Given the description of an element on the screen output the (x, y) to click on. 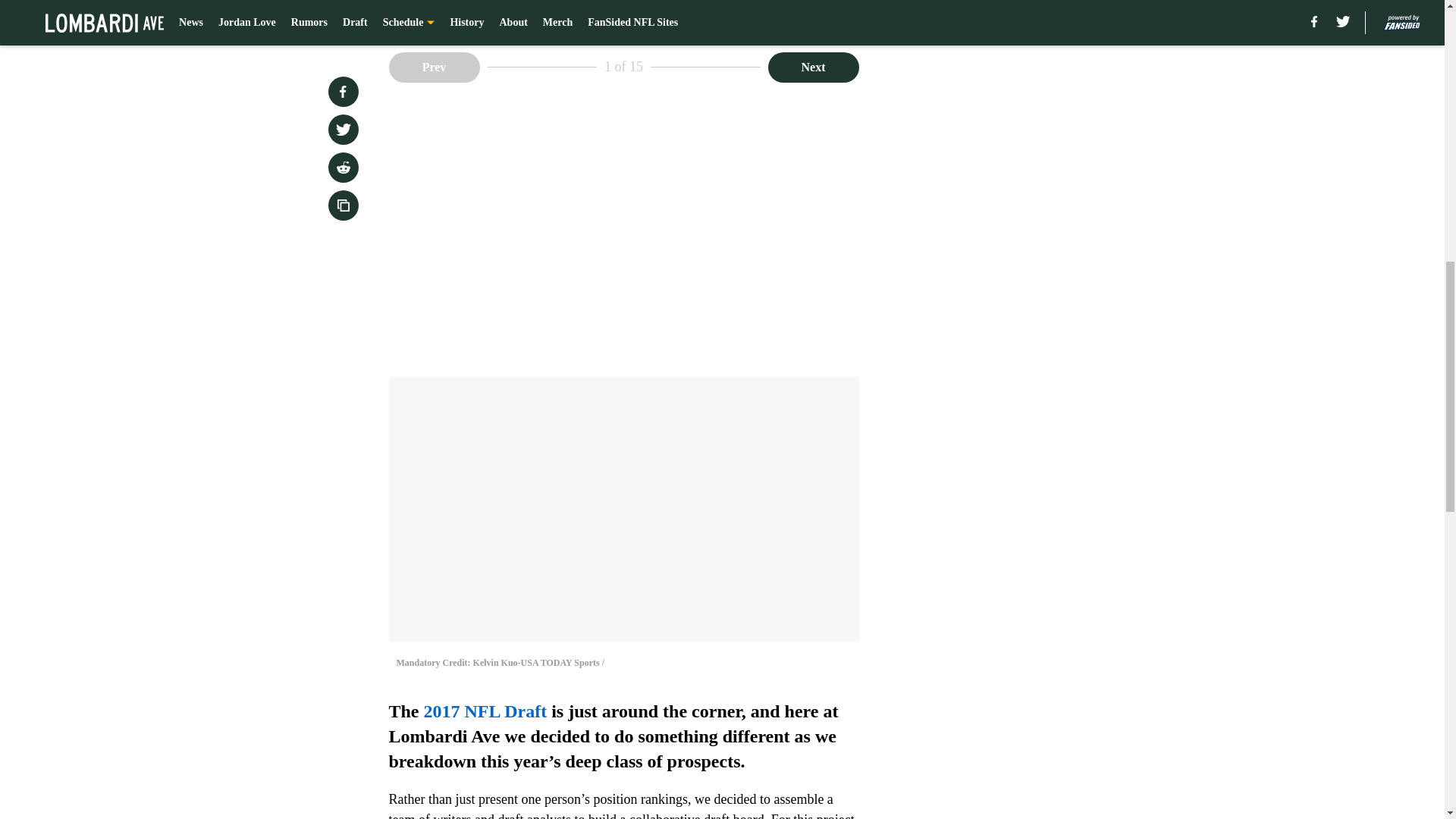
2017 NFL Draft (485, 711)
Next (813, 66)
Prev (433, 66)
